Given the description of an element on the screen output the (x, y) to click on. 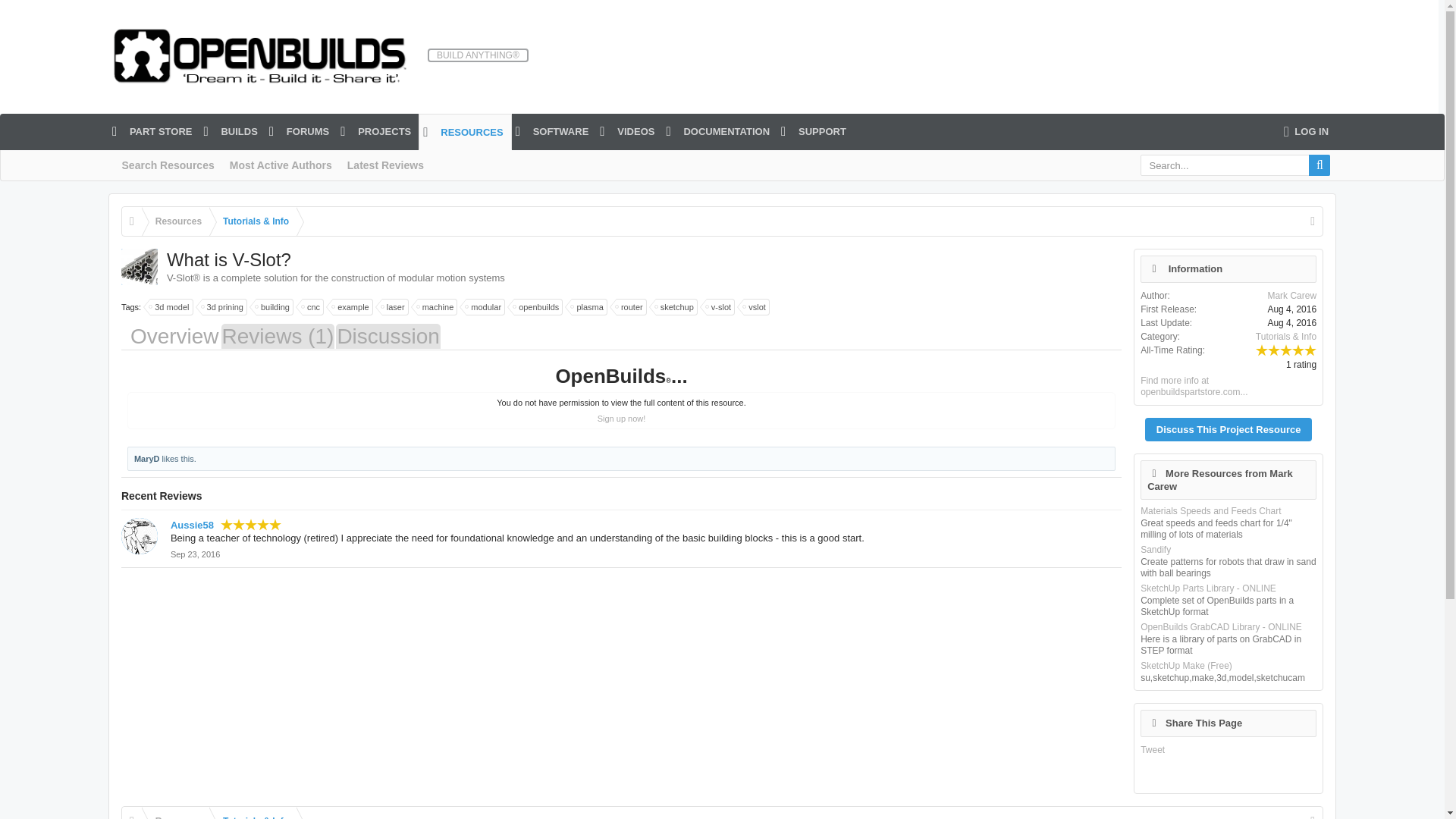
Aug 4, 2016 at 1:36 PM (1291, 322)
5.00 (251, 523)
Enter your search and hit enter (1235, 165)
Sep 23, 2016 at 8:39 PM (194, 553)
Aug 4, 2016 at 1:36 PM (1291, 308)
Open quick navigation (1312, 812)
Permalink (194, 553)
5.00 (1285, 349)
